Given the description of an element on the screen output the (x, y) to click on. 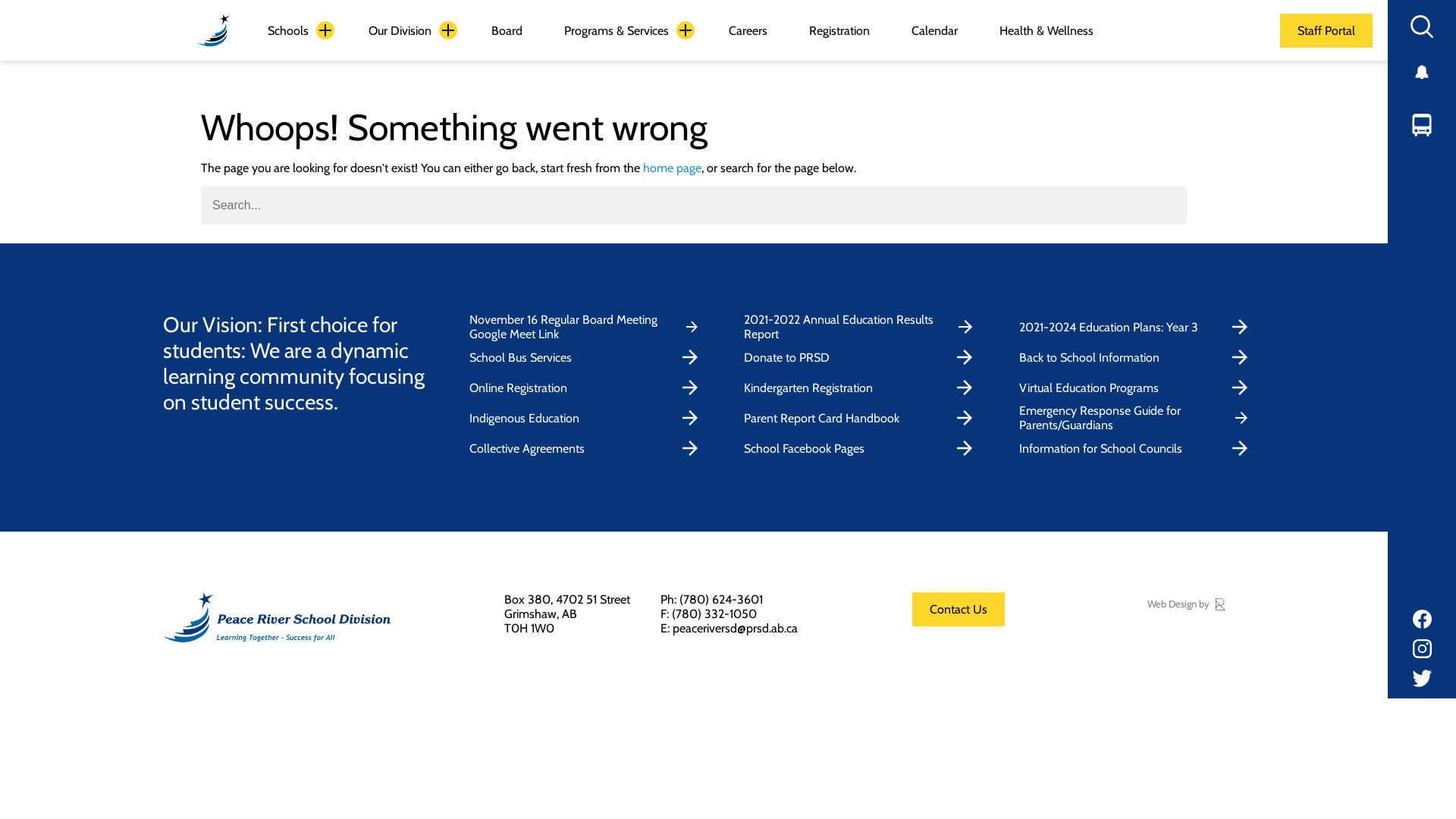
Web Design by Element type: text (1185, 603)
2021-2022 Annual Education Results Report Element type: text (861, 326)
Calendar Element type: text (934, 29)
Online Registration Element type: text (587, 387)
2021-2024 Education Plans: Year 3 Element type: text (1137, 326)
Kindergarten Registration Element type: text (861, 387)
Registration Element type: text (839, 29)
Health & Wellness Element type: text (1046, 29)
Indigenous Education Element type: text (587, 417)
home page Element type: text (672, 167)
Collective Agreements Element type: text (587, 448)
Careers Element type: text (747, 29)
Information for School Councils Element type: text (1137, 448)
School Facebook Pages Element type: text (861, 448)
Our Division Element type: text (399, 29)
Board Element type: text (506, 29)
November 16 Regular Board Meeting Google Meet Link Element type: text (587, 326)
Parent Report Card Handbook Element type: text (861, 417)
School Bus Services Element type: text (587, 357)
Peace River School Division Element type: hover (213, 30)
Virtual Education Programs Element type: text (1137, 387)
Back to School Information Element type: text (1137, 357)
Staff Portal Element type: text (1326, 30)
Donate to PRSD Element type: text (861, 357)
School Status Element type: hover (1421, 71)
Contact Us Element type: text (958, 609)
Schools Element type: text (287, 29)
Programs & Services Element type: text (616, 29)
Emergency Response Guide for Parents/Guardians Element type: text (1137, 417)
